Given the description of an element on the screen output the (x, y) to click on. 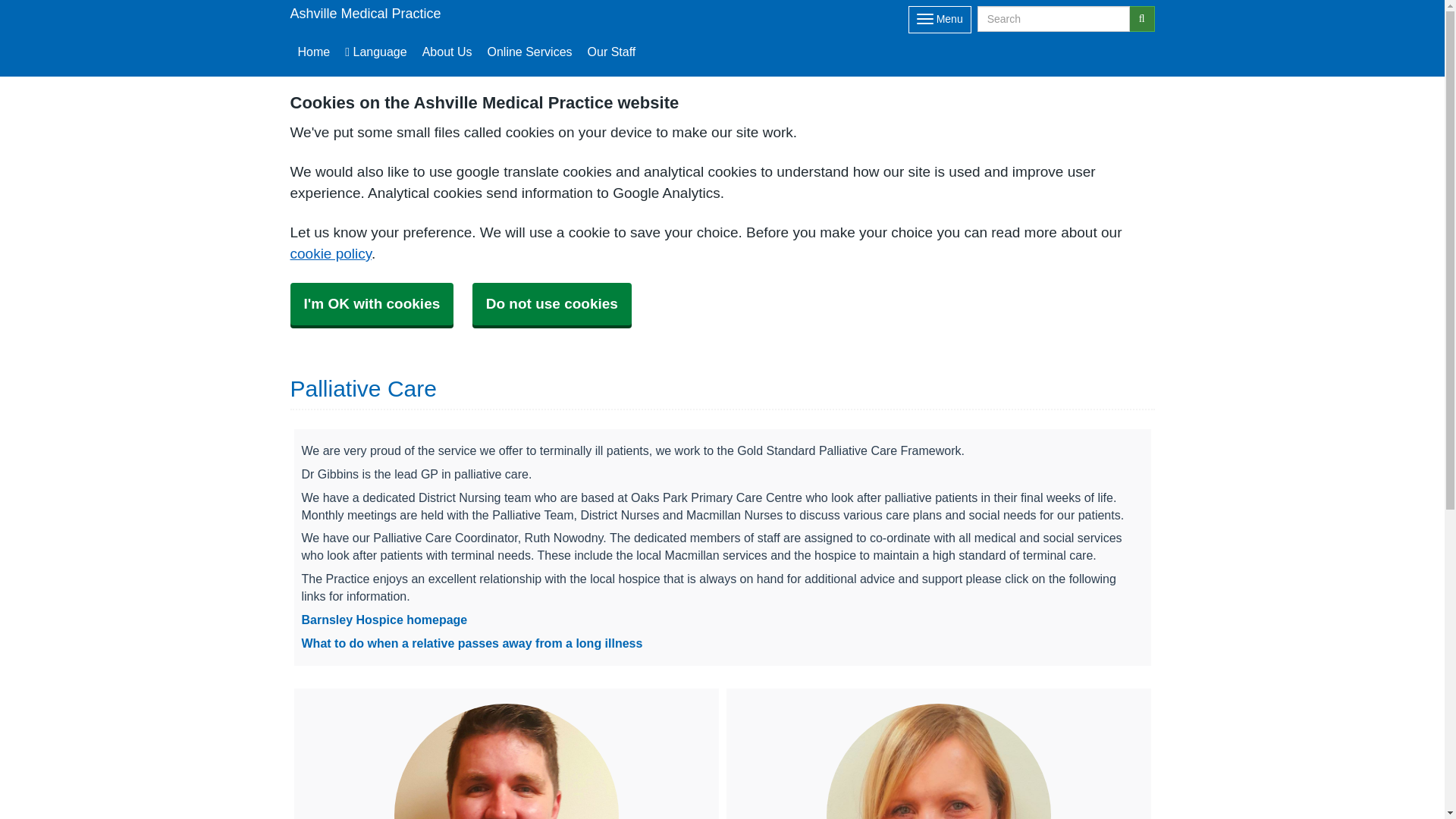
Do not use cookies (551, 303)
Ashville Medical Practice (365, 13)
Menu (939, 19)
cookie policy (330, 253)
I'm OK with cookies (370, 303)
